Given the description of an element on the screen output the (x, y) to click on. 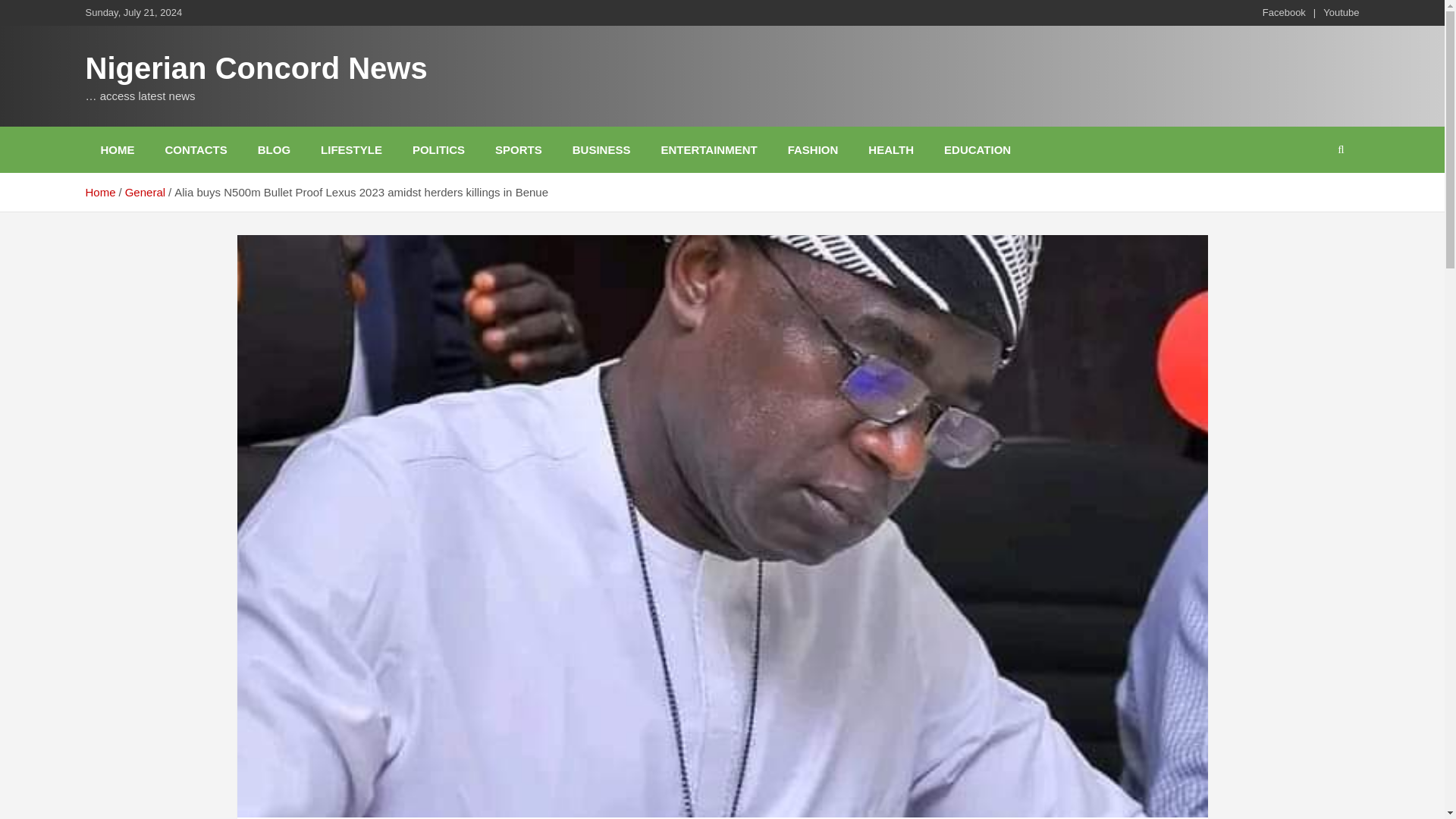
ENTERTAINMENT (708, 149)
CONTACTS (196, 149)
SPORTS (518, 149)
Youtube (1340, 12)
General (145, 192)
LIFESTYLE (351, 149)
EDUCATION (977, 149)
BUSINESS (601, 149)
Facebook (1284, 12)
Home (99, 192)
BLOG (274, 149)
HOME (116, 149)
Nigerian Concord News (255, 68)
POLITICS (438, 149)
FASHION (813, 149)
